Given the description of an element on the screen output the (x, y) to click on. 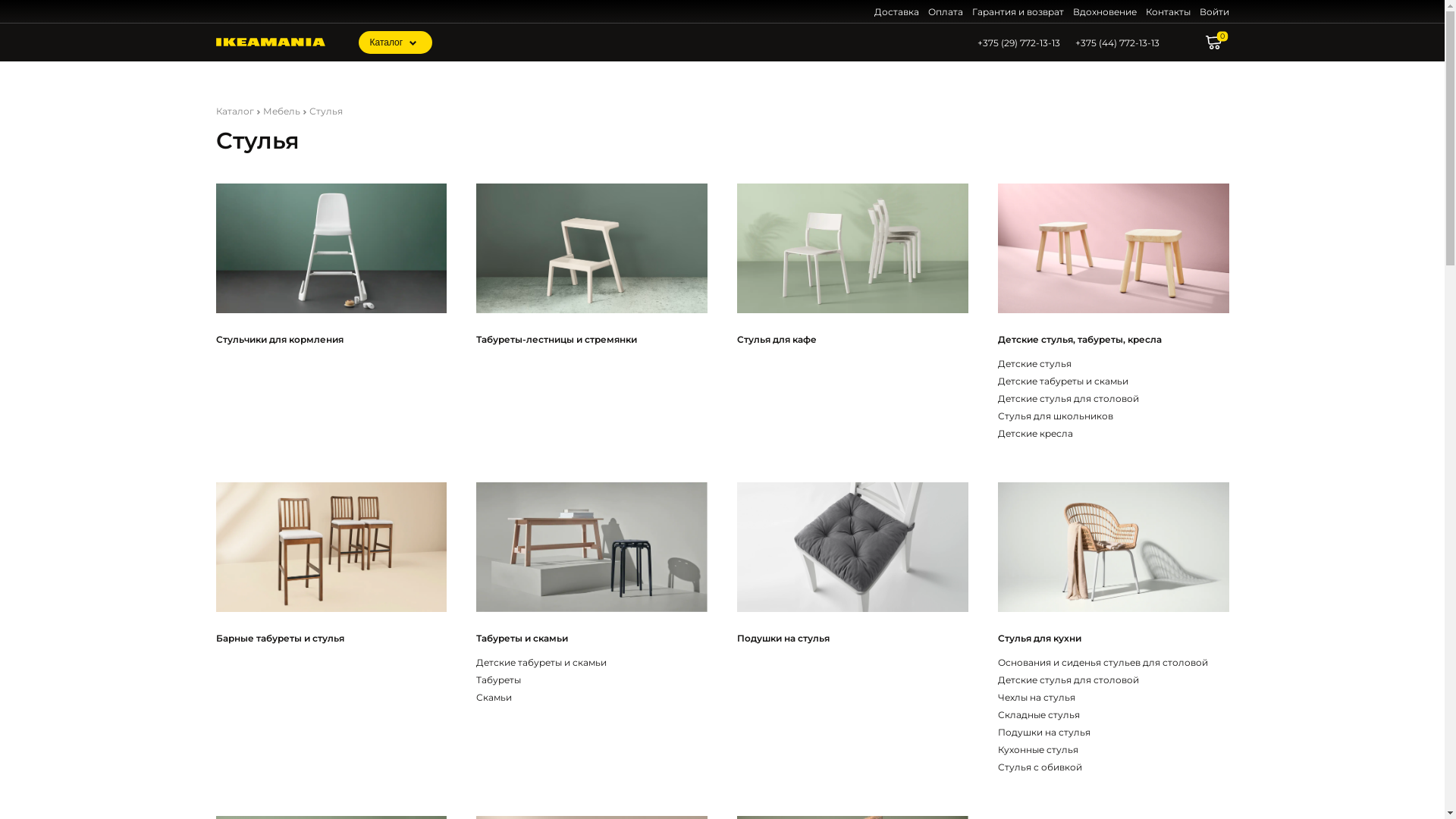
+375 (44) 772-13-13 Element type: text (1117, 41)
0 Element type: text (1217, 42)
+375 (29) 772-13-13 Element type: text (1017, 41)
